Given the description of an element on the screen output the (x, y) to click on. 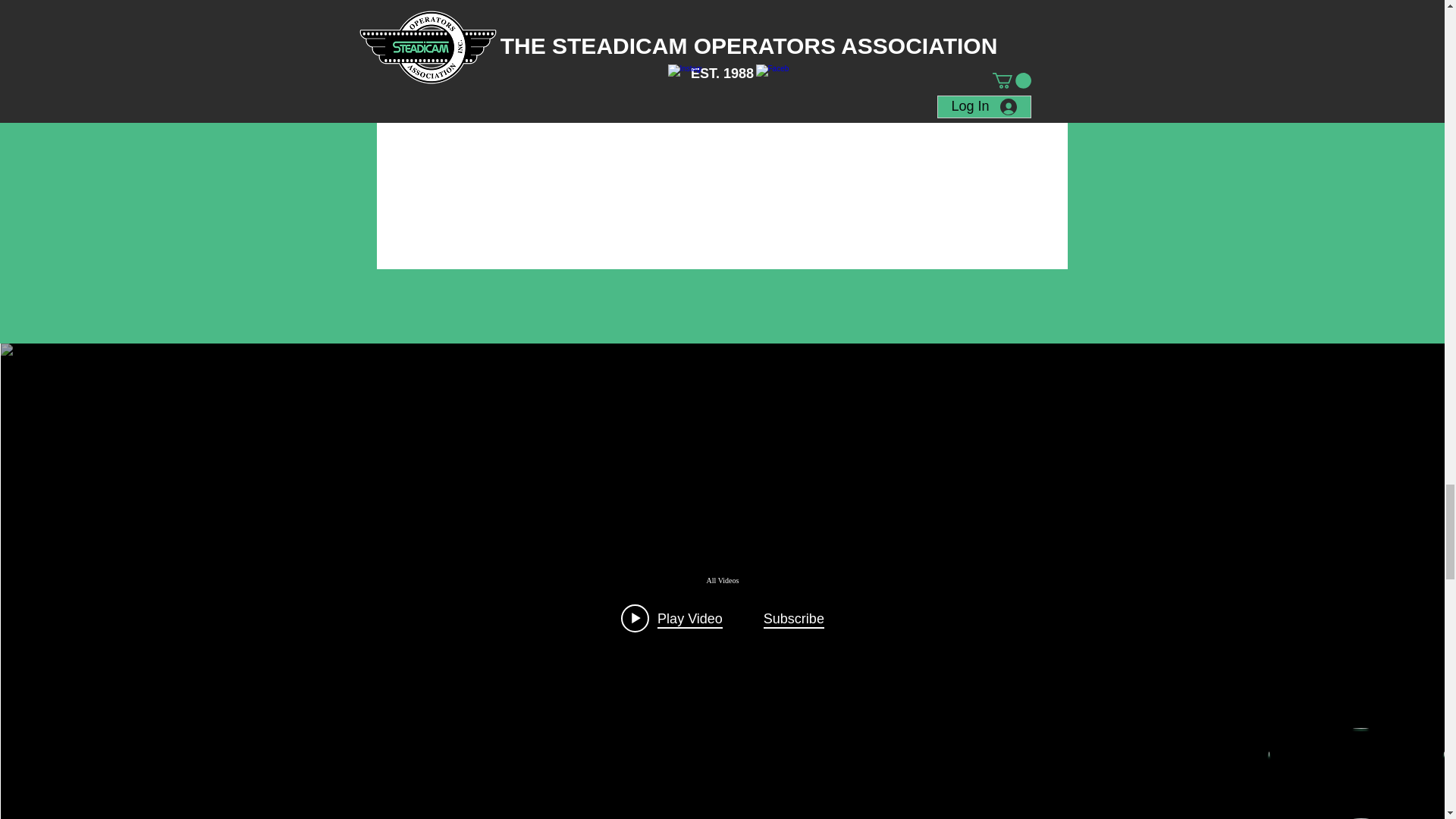
All Videos (722, 580)
